Given the description of an element on the screen output the (x, y) to click on. 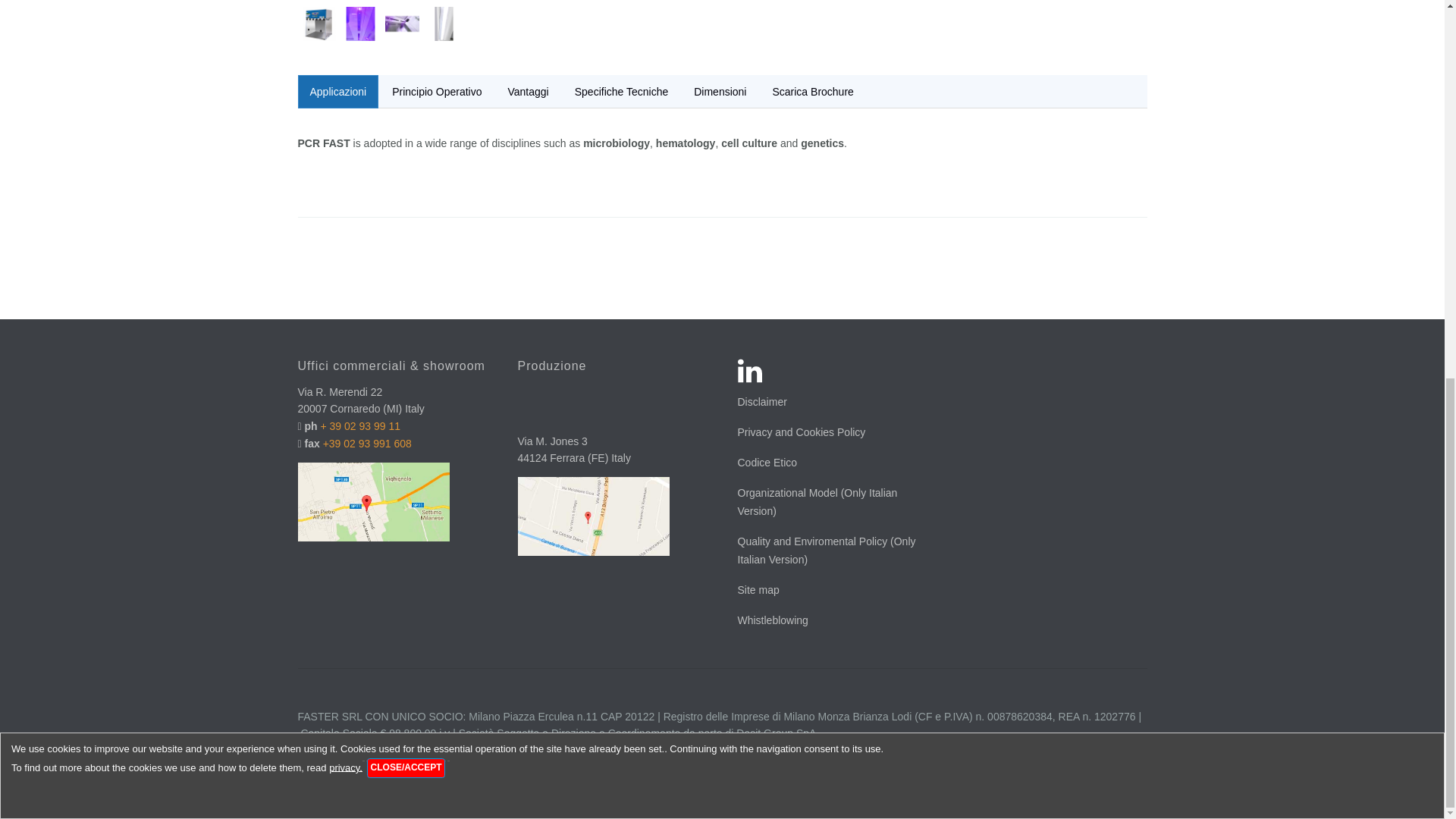
privacy. (345, 65)
